Given the description of an element on the screen output the (x, y) to click on. 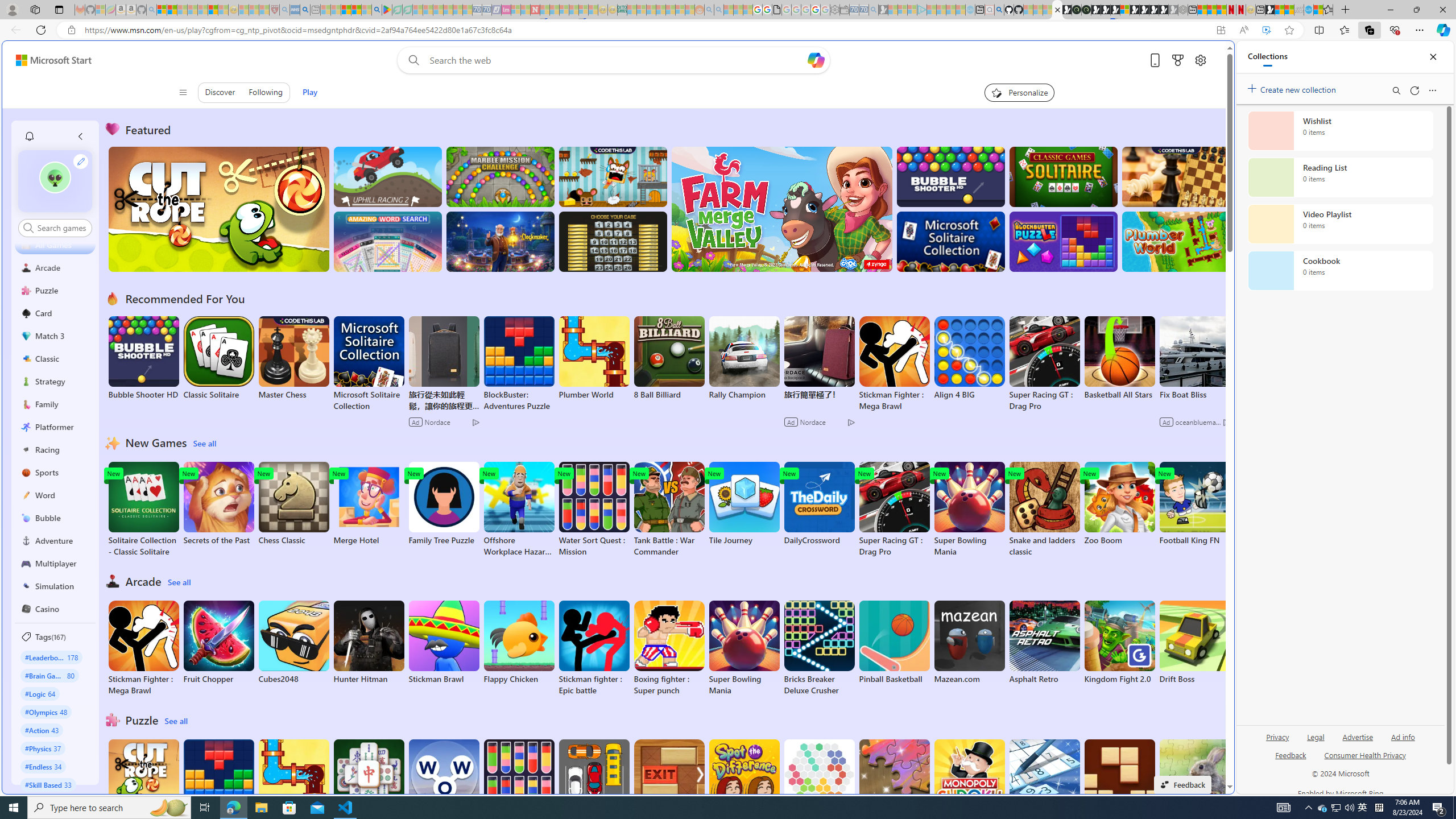
Class: profile-edit (80, 160)
Microsoft Solitaire Collection (368, 363)
Hunter Hitman (368, 642)
Marble Mission : Challenge (499, 176)
Reading List collection, 0 items (1339, 177)
